Given the description of an element on the screen output the (x, y) to click on. 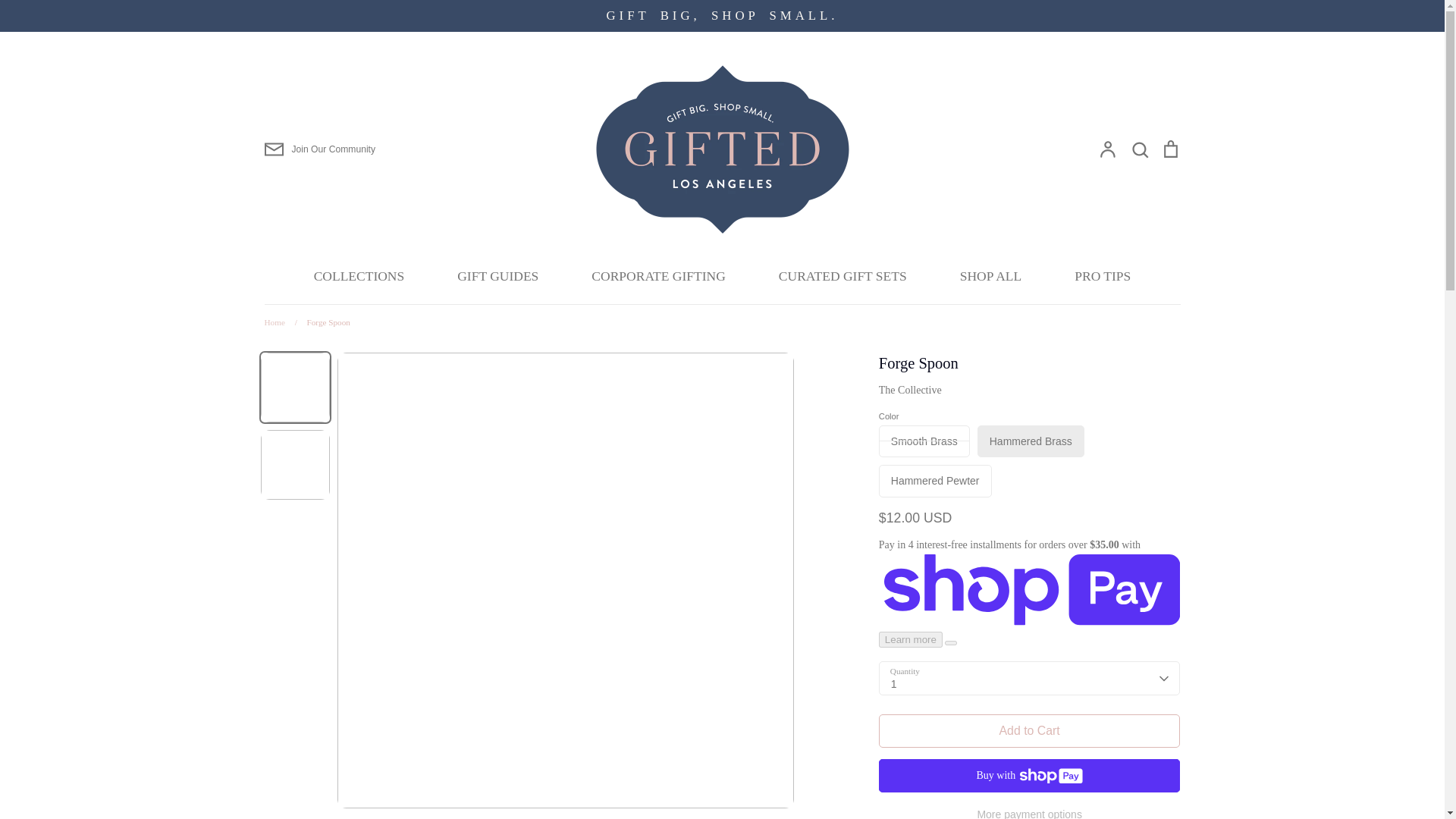
COLLECTIONS (359, 275)
Account (1107, 148)
Cart (1169, 148)
Join Our Community (319, 148)
Search (1139, 148)
